Given the description of an element on the screen output the (x, y) to click on. 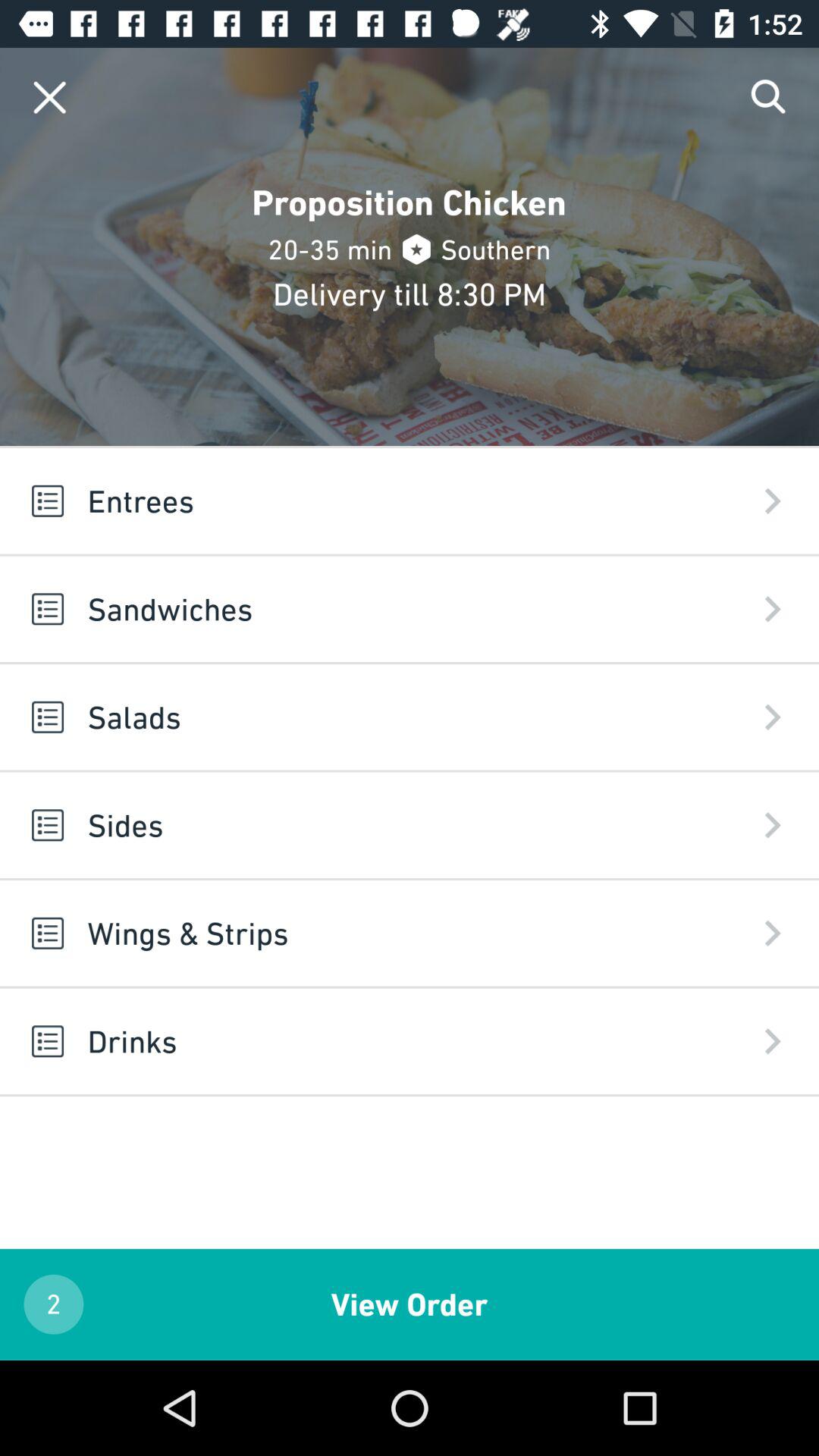
open search box (769, 97)
